Given the description of an element on the screen output the (x, y) to click on. 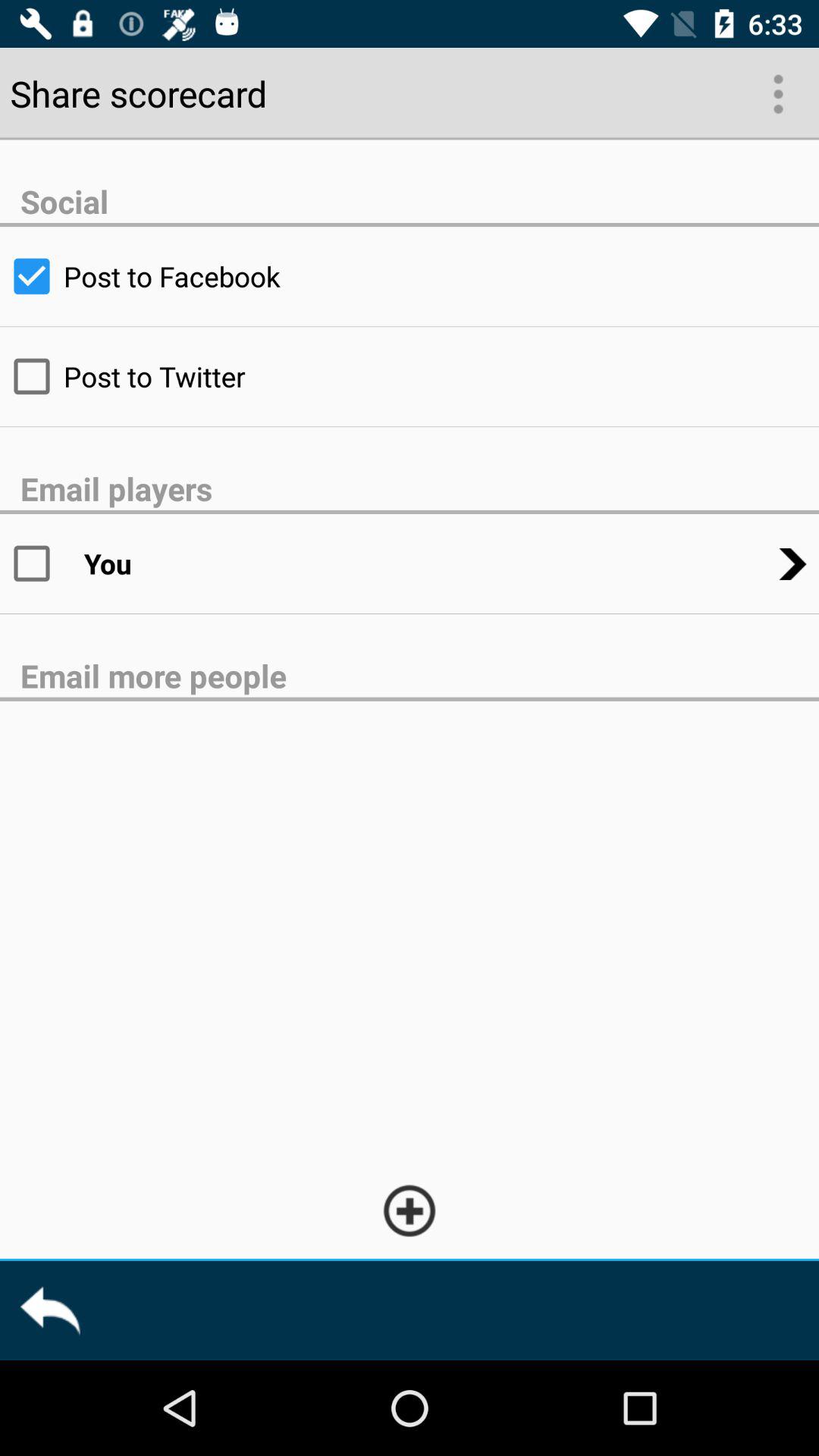
select you (42, 563)
